Given the description of an element on the screen output the (x, y) to click on. 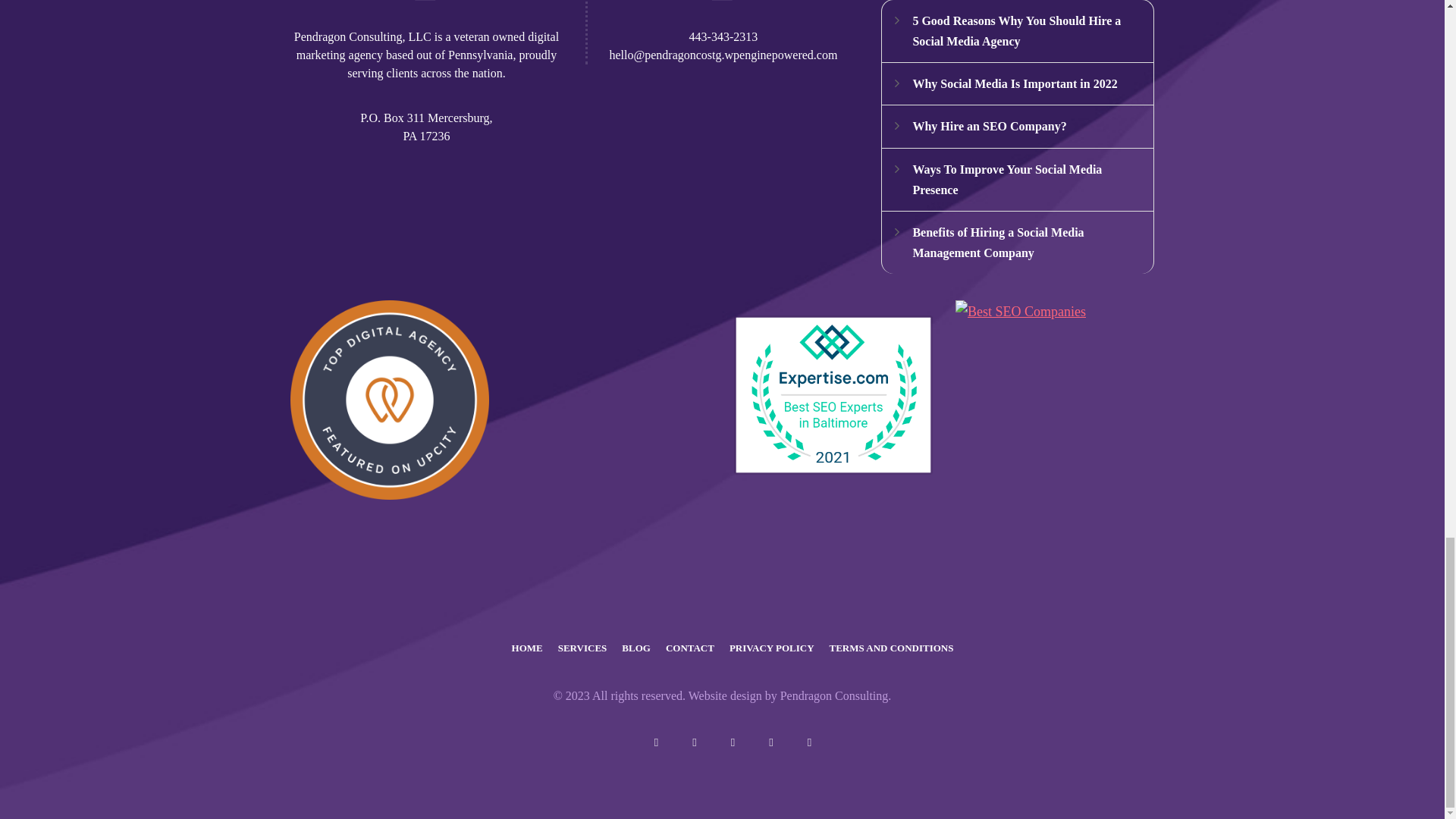
443-343-2313 (723, 36)
